Given the description of an element on the screen output the (x, y) to click on. 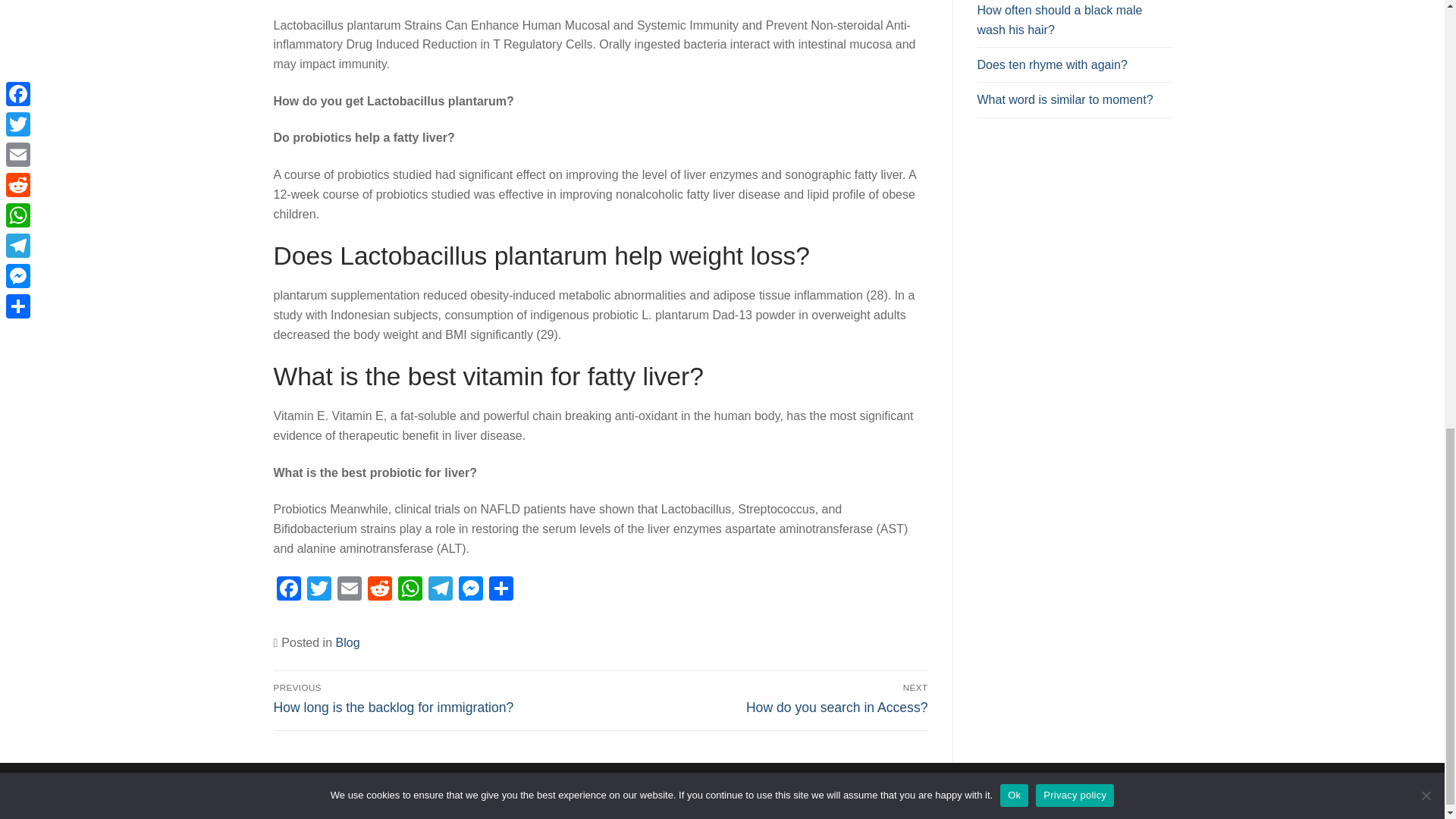
Facebook (287, 590)
Email (348, 590)
Reddit (379, 590)
Messenger (469, 590)
Telegram (439, 590)
Blog (346, 642)
Messenger (469, 590)
Reddit (379, 590)
WhatsApp (409, 590)
